Given the description of an element on the screen output the (x, y) to click on. 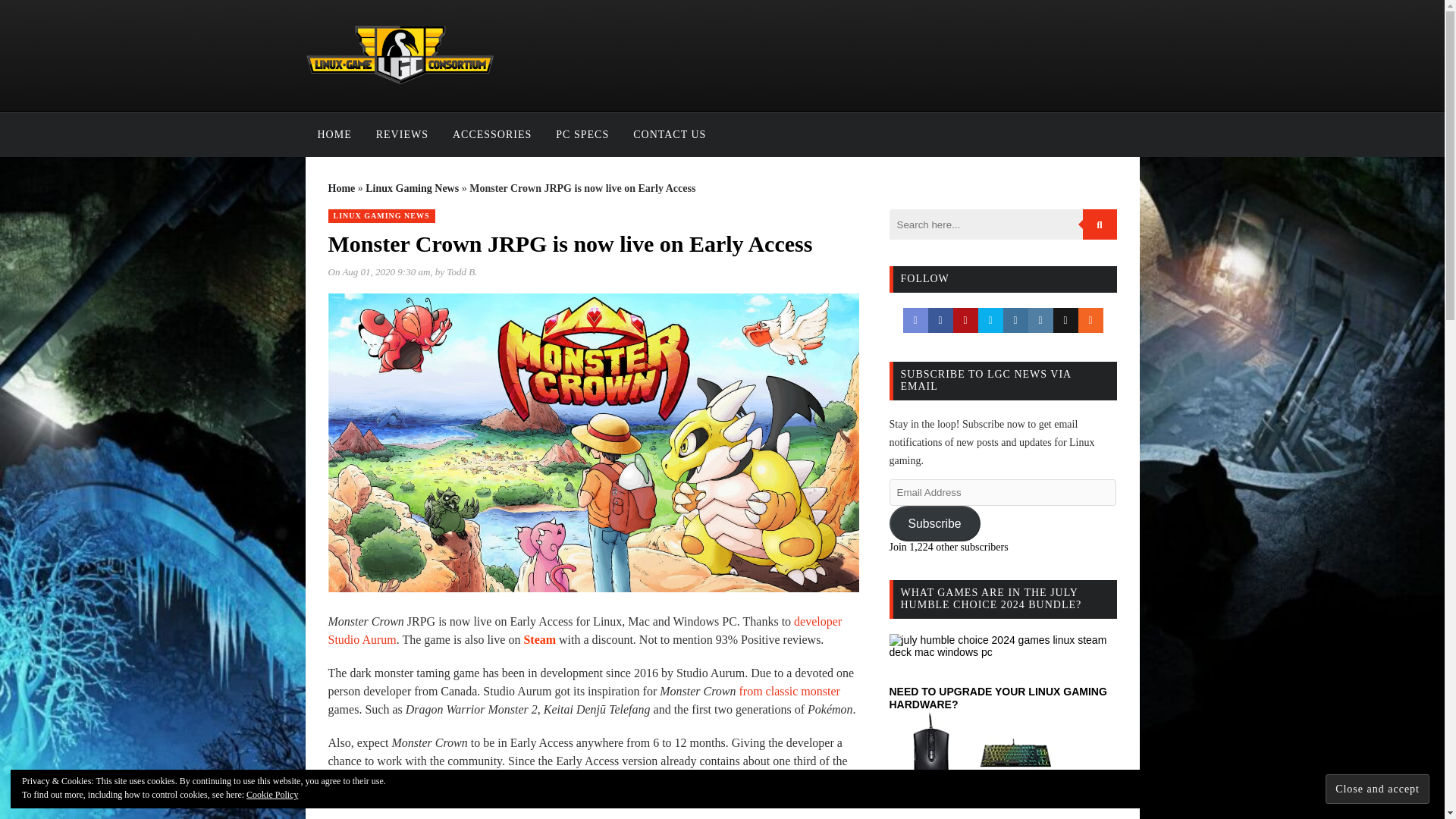
HOME (333, 135)
Home (341, 188)
PC SPECS (582, 135)
What games are in the July Humble Choice 2024 bundle? (1002, 645)
CONTACT US (669, 135)
Linux Gaming News (411, 188)
REVIEWS (402, 135)
from classic monster (789, 690)
ACCESSORIES (492, 135)
LINUX GAMING NEWS (380, 215)
developer Studio Aurum (584, 630)
Steam (539, 639)
Close and accept (1376, 788)
Todd B. (461, 271)
